Given the description of an element on the screen output the (x, y) to click on. 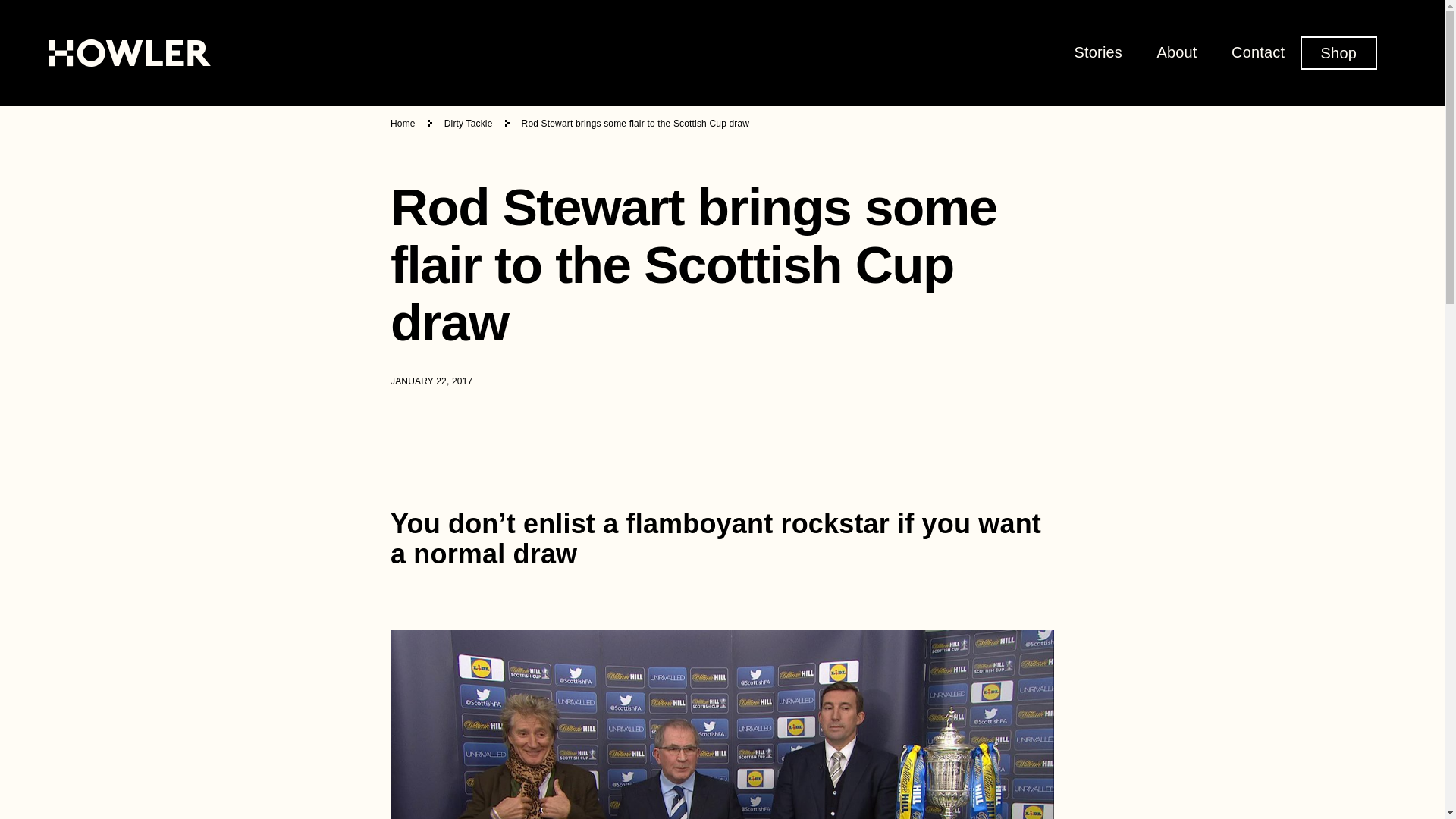
Home (402, 122)
About (1176, 52)
Dirty Tackle (468, 122)
Stories (1098, 52)
Contact (1257, 52)
Shop (1338, 51)
